Given the description of an element on the screen output the (x, y) to click on. 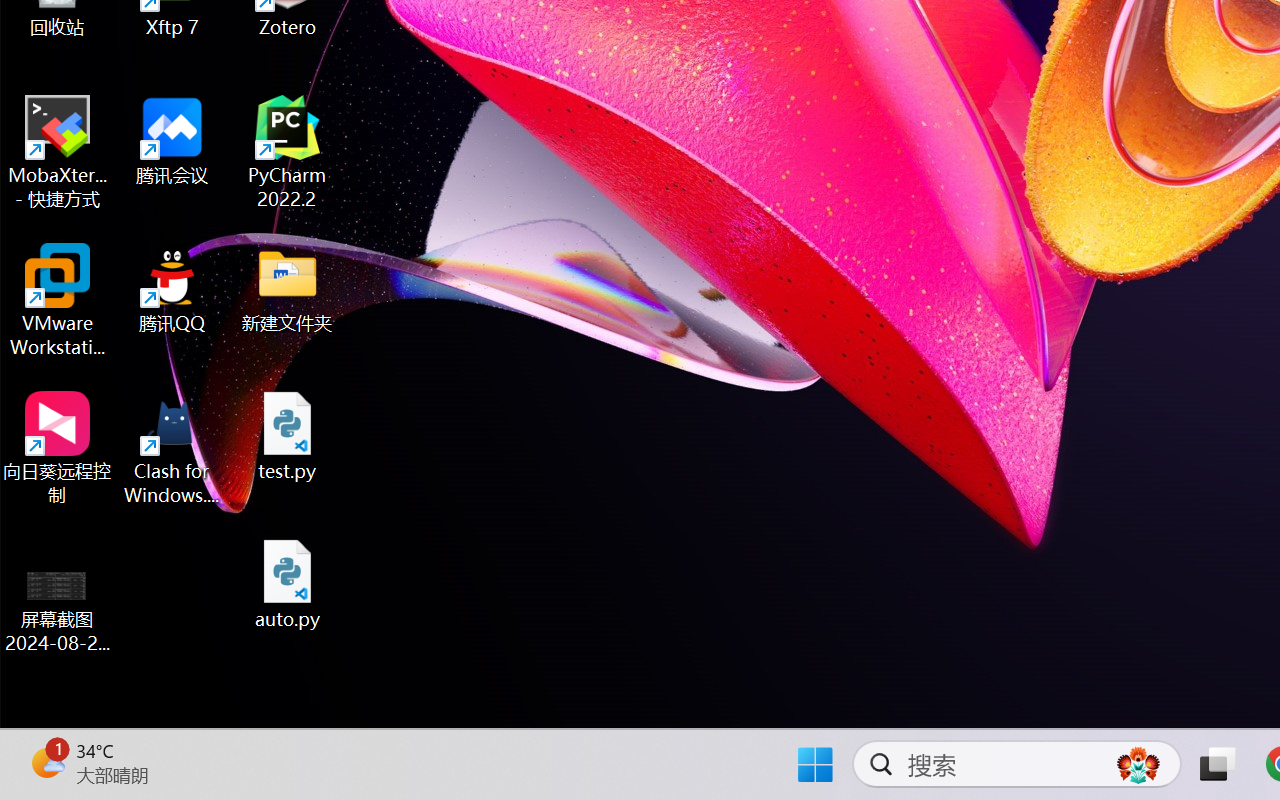
test.py (287, 436)
auto.py (287, 584)
VMware Workstation Pro (57, 300)
